Given the description of an element on the screen output the (x, y) to click on. 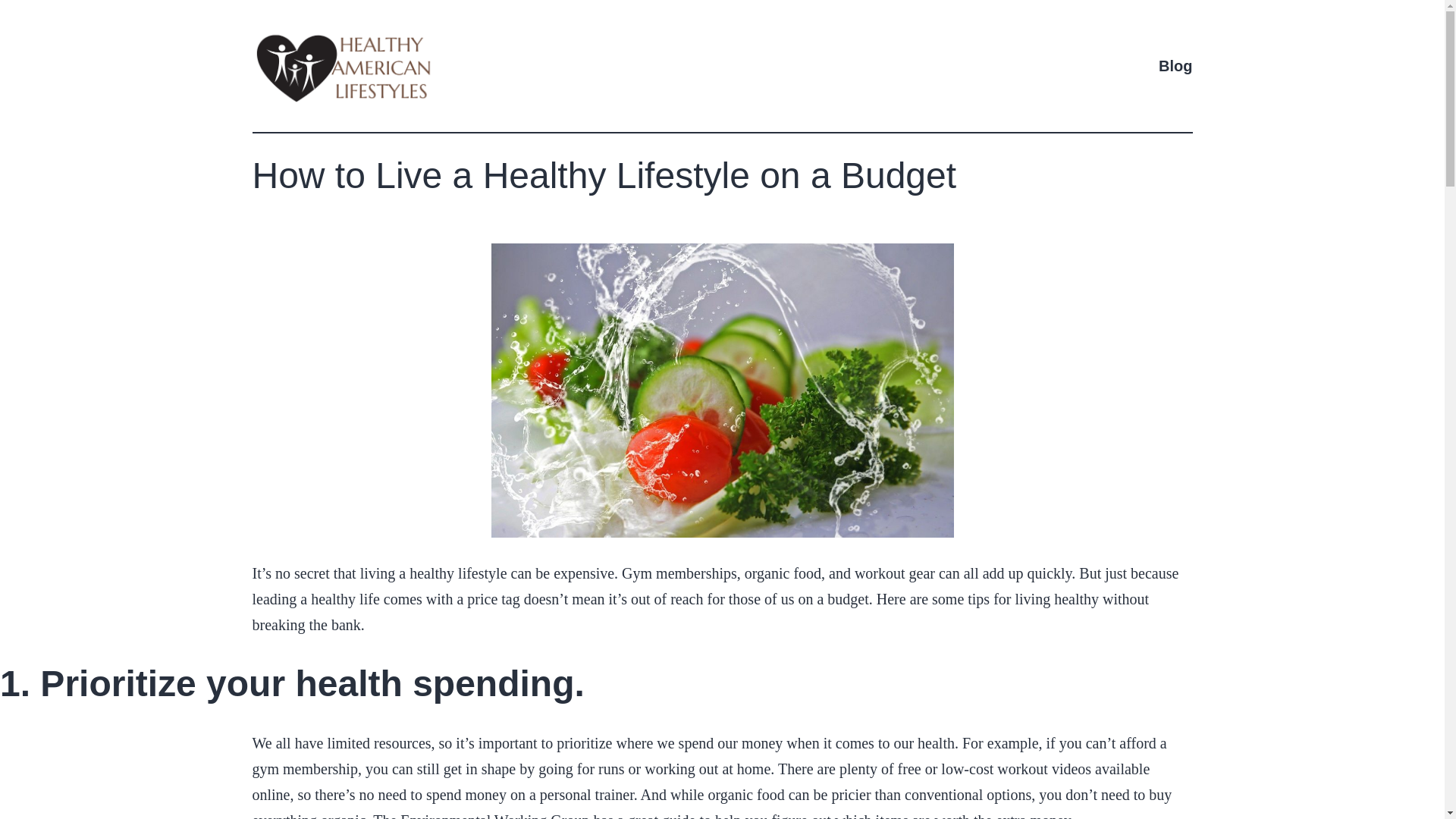
Blog (1175, 65)
